Given the description of an element on the screen output the (x, y) to click on. 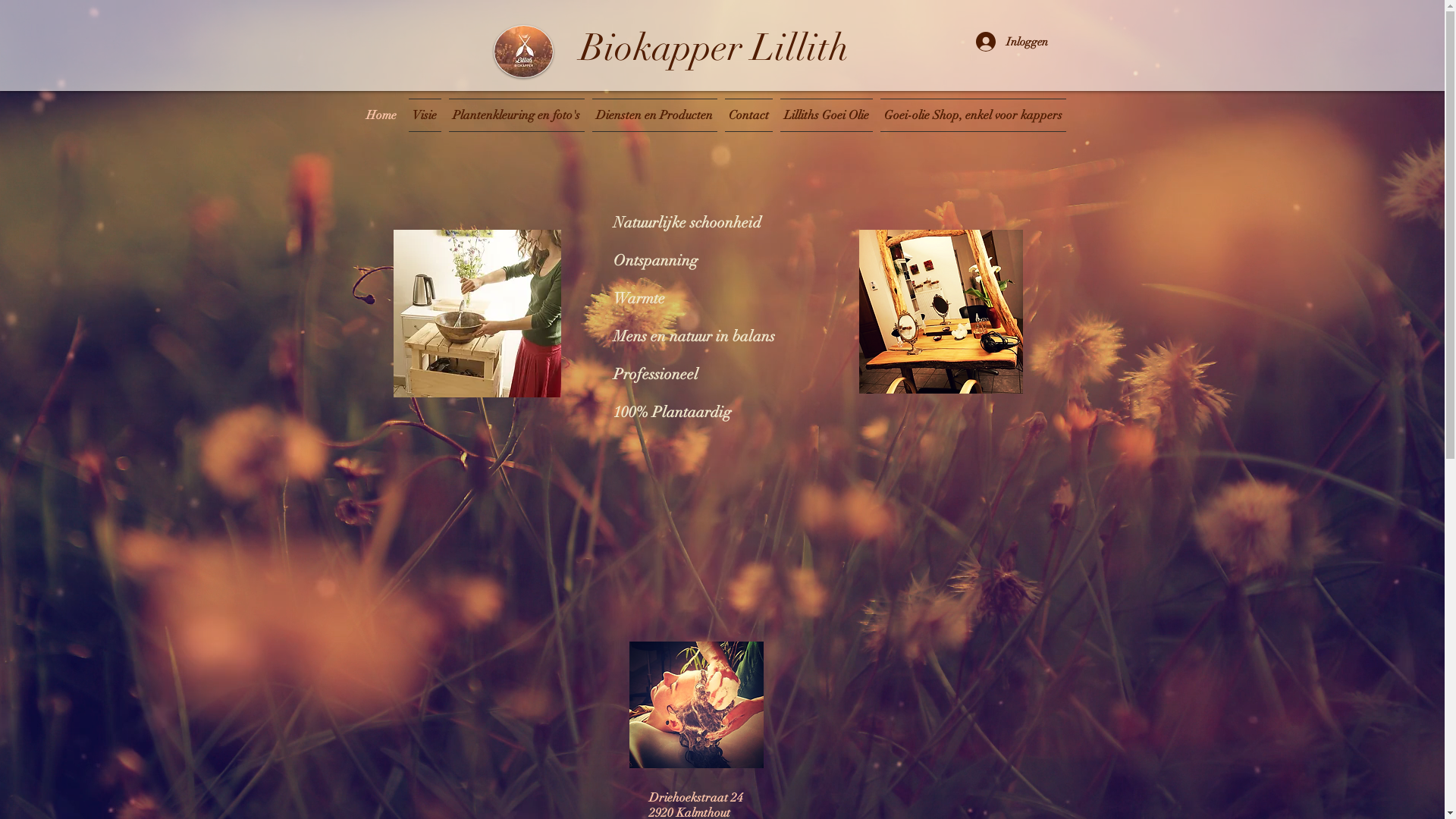
Ontspanning Element type: text (654, 260)
Lilliths Goei Olie Element type: text (826, 114)
Natuurlijke schoonheid Element type: text (686, 222)
Professioneel Element type: text (654, 373)
Warmte Element type: text (638, 297)
Goei-olie Shop, enkel voor kappers Element type: text (971, 114)
Visie Element type: text (424, 114)
Diensten en Producten Element type: text (654, 114)
Plantenkleuring en foto's Element type: text (515, 114)
Home Element type: text (383, 114)
Contact Element type: text (747, 114)
Mens en natuur in balans Element type: text (693, 335)
100% Plantaardig Element type: text (671, 411)
Inloggen Element type: text (1009, 41)
